Given the description of an element on the screen output the (x, y) to click on. 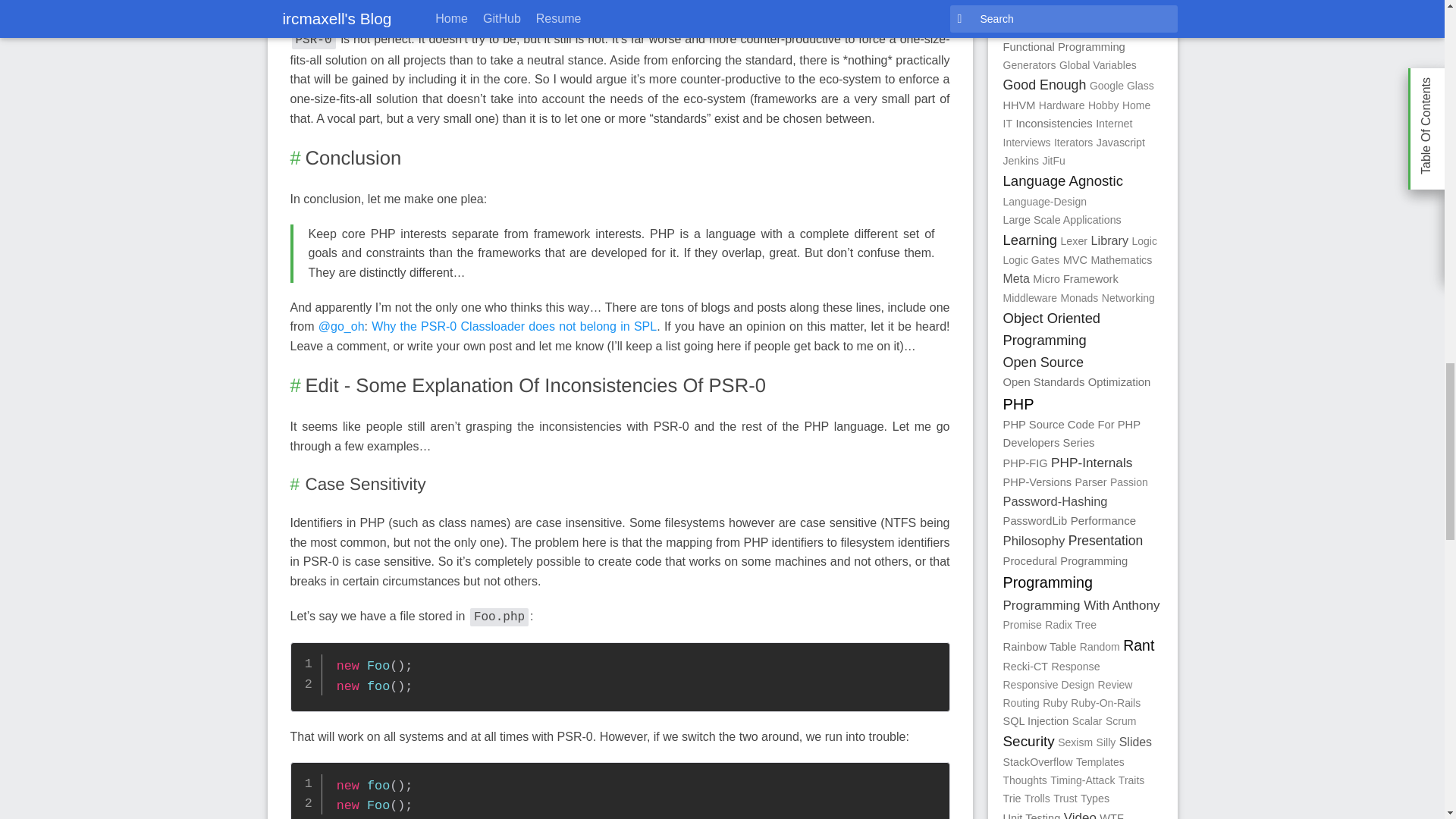
Why the PSR-0 Classloader does not belong in SPL (513, 326)
